Given the description of an element on the screen output the (x, y) to click on. 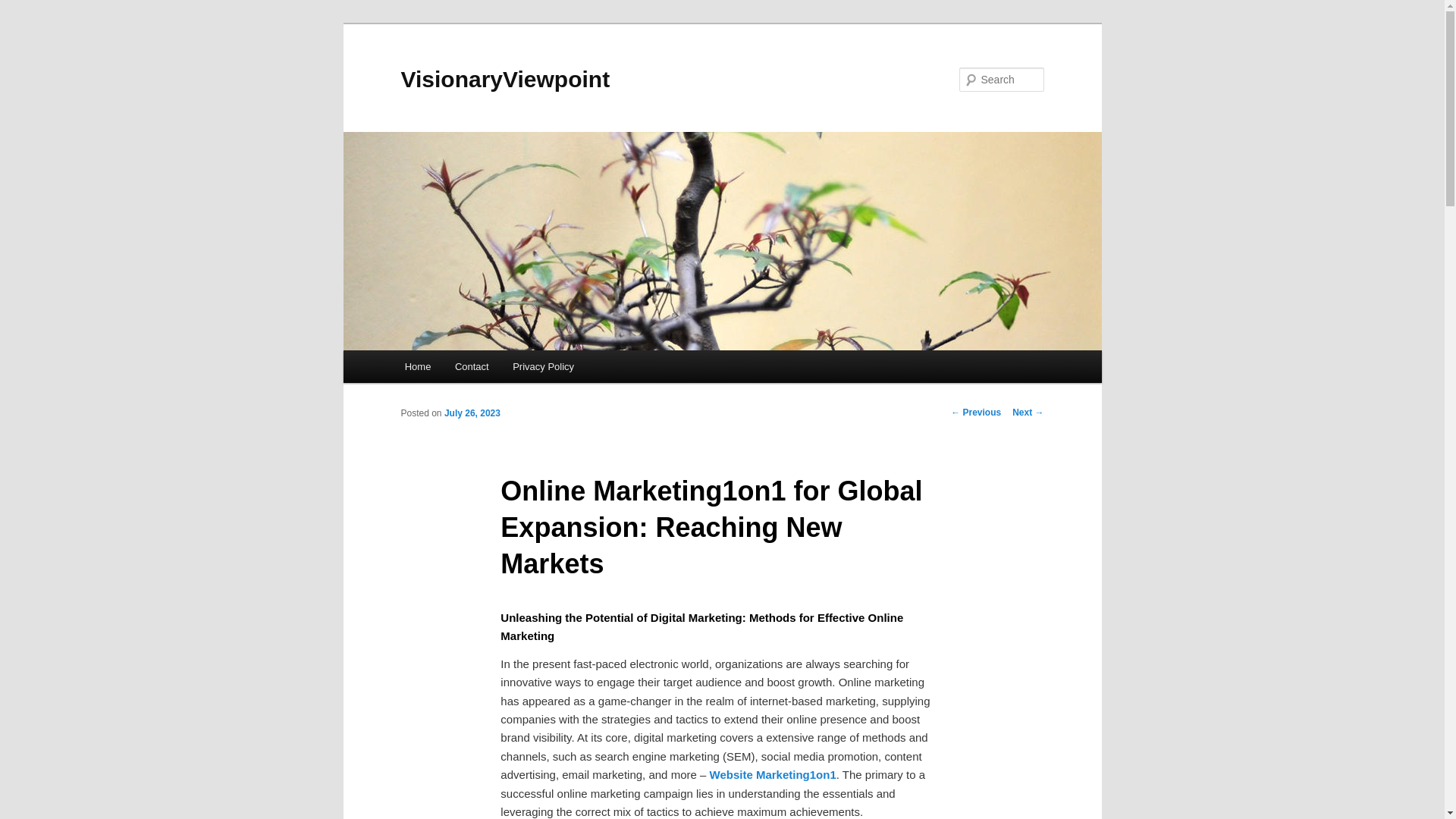
Website Marketing1on1 (772, 774)
Home (417, 366)
Contact (471, 366)
VisionaryViewpoint (505, 78)
Search (24, 8)
5:31 pm (472, 412)
Privacy Policy (542, 366)
July 26, 2023 (472, 412)
